Given the description of an element on the screen output the (x, y) to click on. 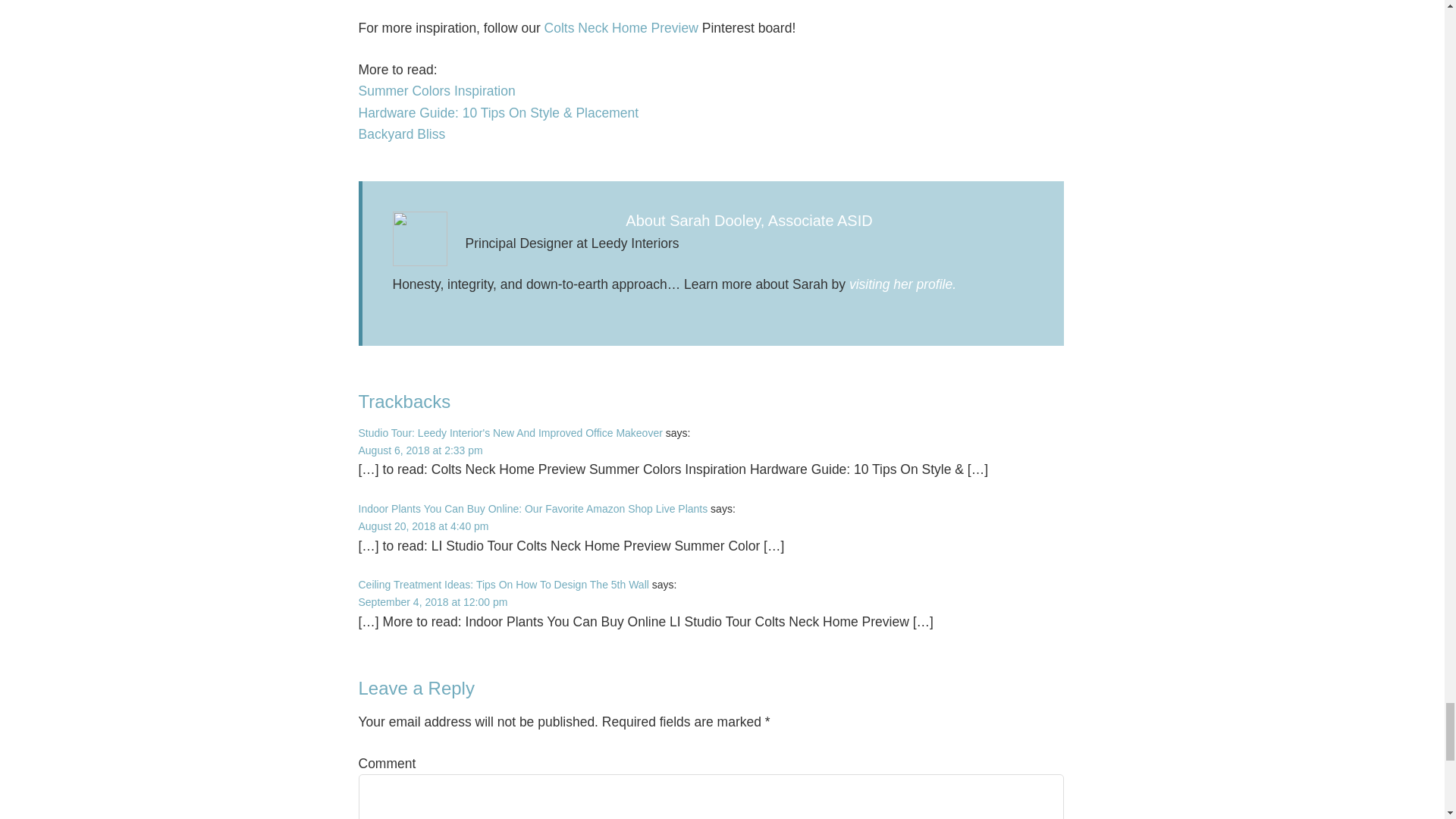
Colts Neck Home Preview (621, 28)
Ceiling Treatment Ideas: Tips On How To Design The 5th Wall (502, 584)
Backyard Bliss (401, 133)
September 4, 2018 at 12:00 pm (432, 602)
Summer Colors Inspiration (436, 90)
August 6, 2018 at 2:33 pm (419, 450)
visiting her profile. (902, 283)
August 20, 2018 at 4:40 pm (422, 526)
